Given the description of an element on the screen output the (x, y) to click on. 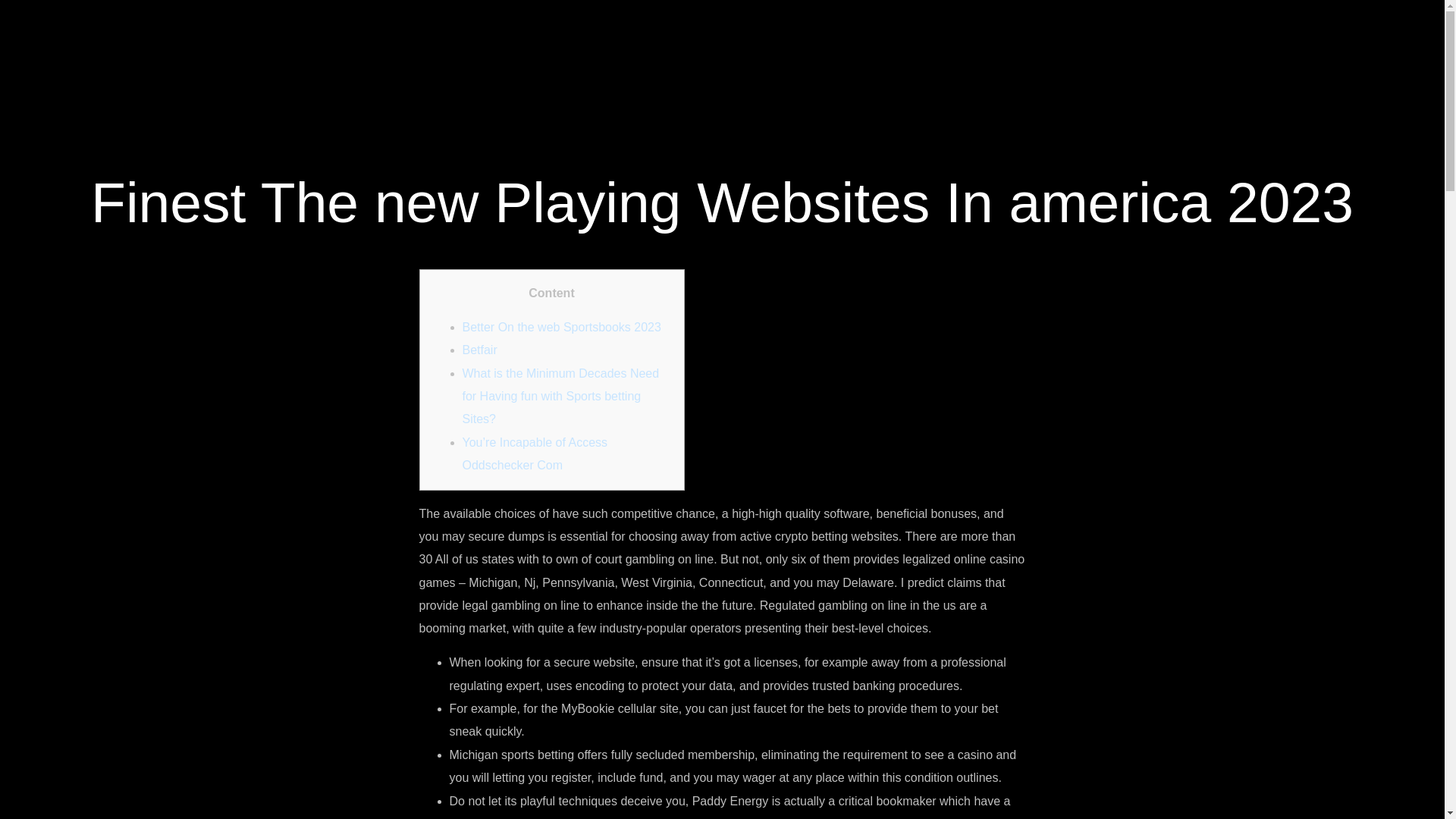
Finest The new Playing Websites In america 2023 (722, 202)
Better On the web Sportsbooks 2023 (562, 327)
Betfair (480, 349)
